Given the description of an element on the screen output the (x, y) to click on. 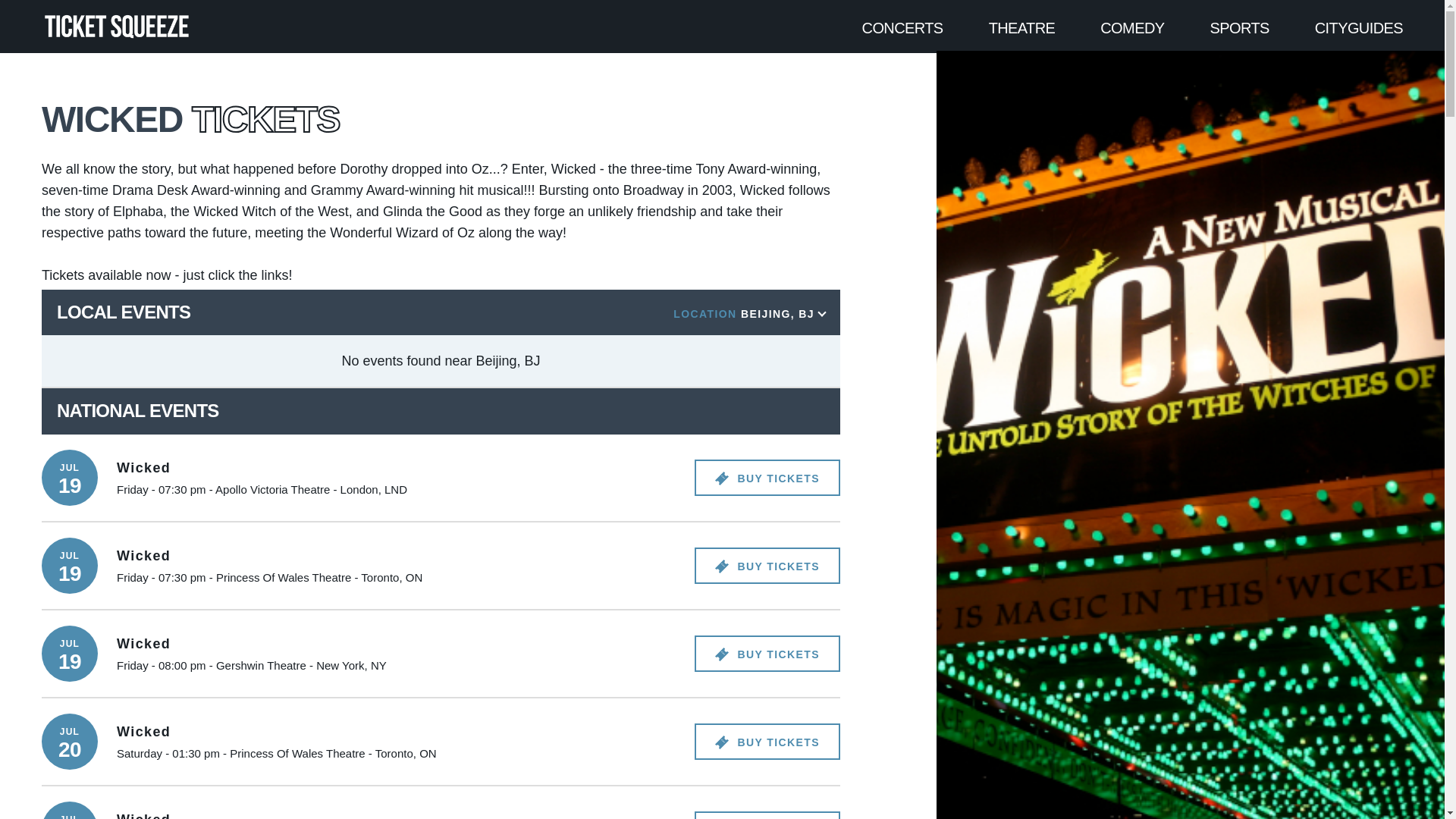
CONCERTS (902, 27)
BUY TICKETS (767, 741)
BUY TICKETS (767, 815)
BUY TICKETS (767, 477)
COMEDY (1131, 27)
CITYGUIDES (1358, 27)
THEATRE (1021, 27)
BUY TICKETS (767, 565)
BUY TICKETS (767, 653)
SPORTS (1238, 27)
